Given the description of an element on the screen output the (x, y) to click on. 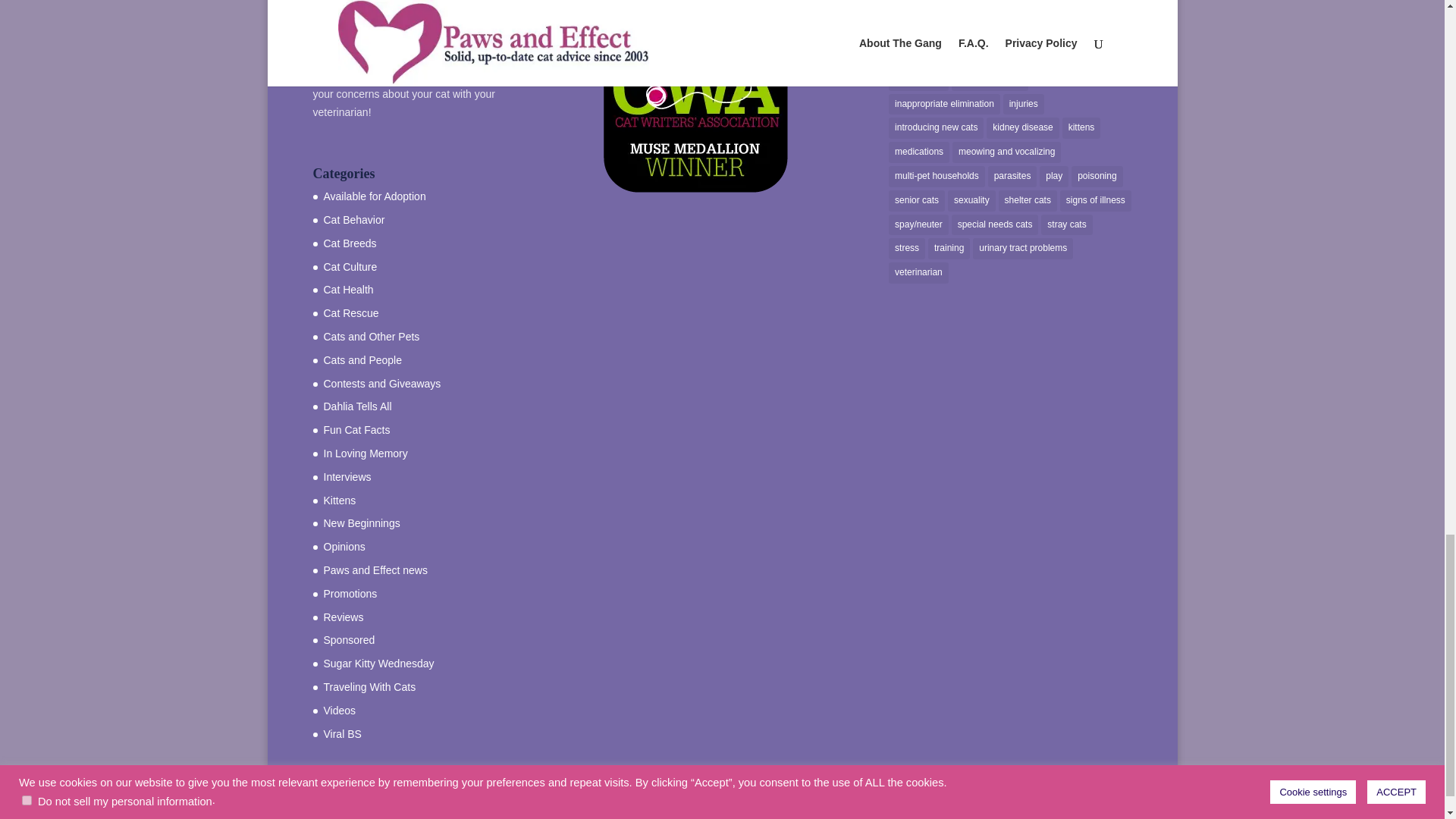
Fun Cat Facts (356, 429)
Paws and Effect news (374, 570)
Sponsored (348, 639)
Interviews (347, 476)
Cat Behavior (353, 219)
Reviews (342, 616)
Cat Health (347, 289)
Cat Breeds (349, 243)
Cat Rescue (350, 313)
New Beginnings (360, 522)
